Given the description of an element on the screen output the (x, y) to click on. 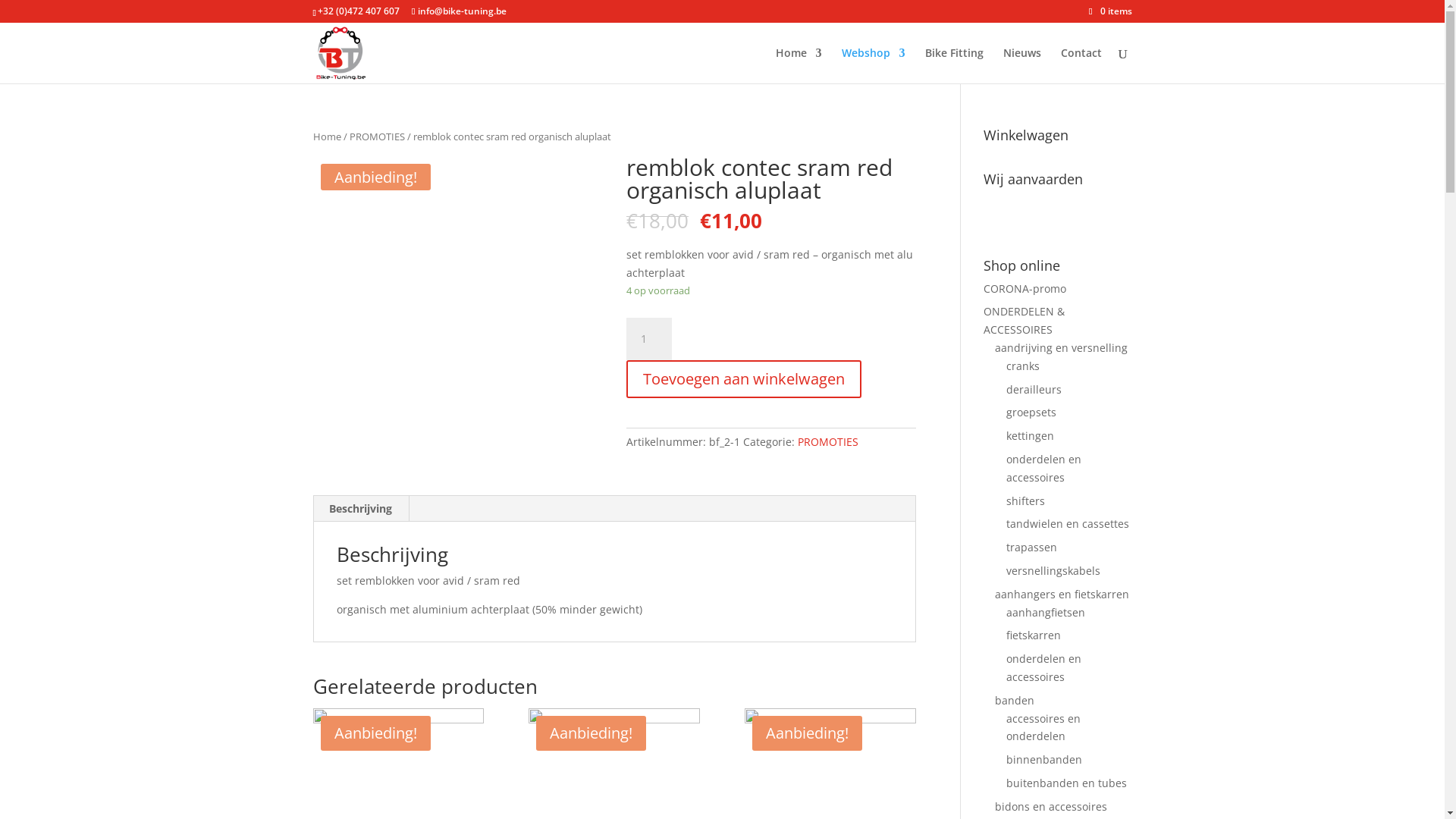
PROMOTIES Element type: text (827, 441)
0 items Element type: text (1109, 10)
tandwielen en cassettes Element type: text (1067, 523)
Bike Fitting Element type: text (954, 65)
Home Element type: text (798, 65)
groepsets Element type: text (1031, 411)
onderdelen en accessoires Element type: text (1043, 467)
kettingen Element type: text (1030, 435)
Beschrijving Element type: text (360, 508)
trapassen Element type: text (1031, 546)
Webshop Element type: text (873, 65)
binnenbanden Element type: text (1044, 759)
CORONA-promo Element type: text (1024, 288)
shifters Element type: text (1025, 500)
PROMOTIES Element type: text (376, 136)
Aantal Element type: hover (648, 338)
aanhangfietsen Element type: text (1045, 612)
Nieuws Element type: text (1021, 65)
buitenbanden en tubes Element type: text (1066, 782)
banden Element type: text (1014, 700)
derailleurs Element type: text (1033, 389)
aandrijving en versnelling Element type: text (1060, 347)
Home Element type: text (326, 136)
Contact Element type: text (1080, 65)
Toevoegen aan winkelwagen Element type: text (743, 379)
aanhangers en fietskarren Element type: text (1061, 593)
accessoires en onderdelen Element type: text (1043, 727)
bidons en accessoires Element type: text (1050, 806)
onderdelen en accessoires Element type: text (1043, 667)
fietskarren Element type: text (1033, 634)
ONDERDELEN & ACCESSOIRES Element type: text (1023, 320)
versnellingskabels Element type: text (1053, 570)
cranks Element type: text (1022, 365)
info@bike-tuning.be Element type: text (458, 10)
